Given the description of an element on the screen output the (x, y) to click on. 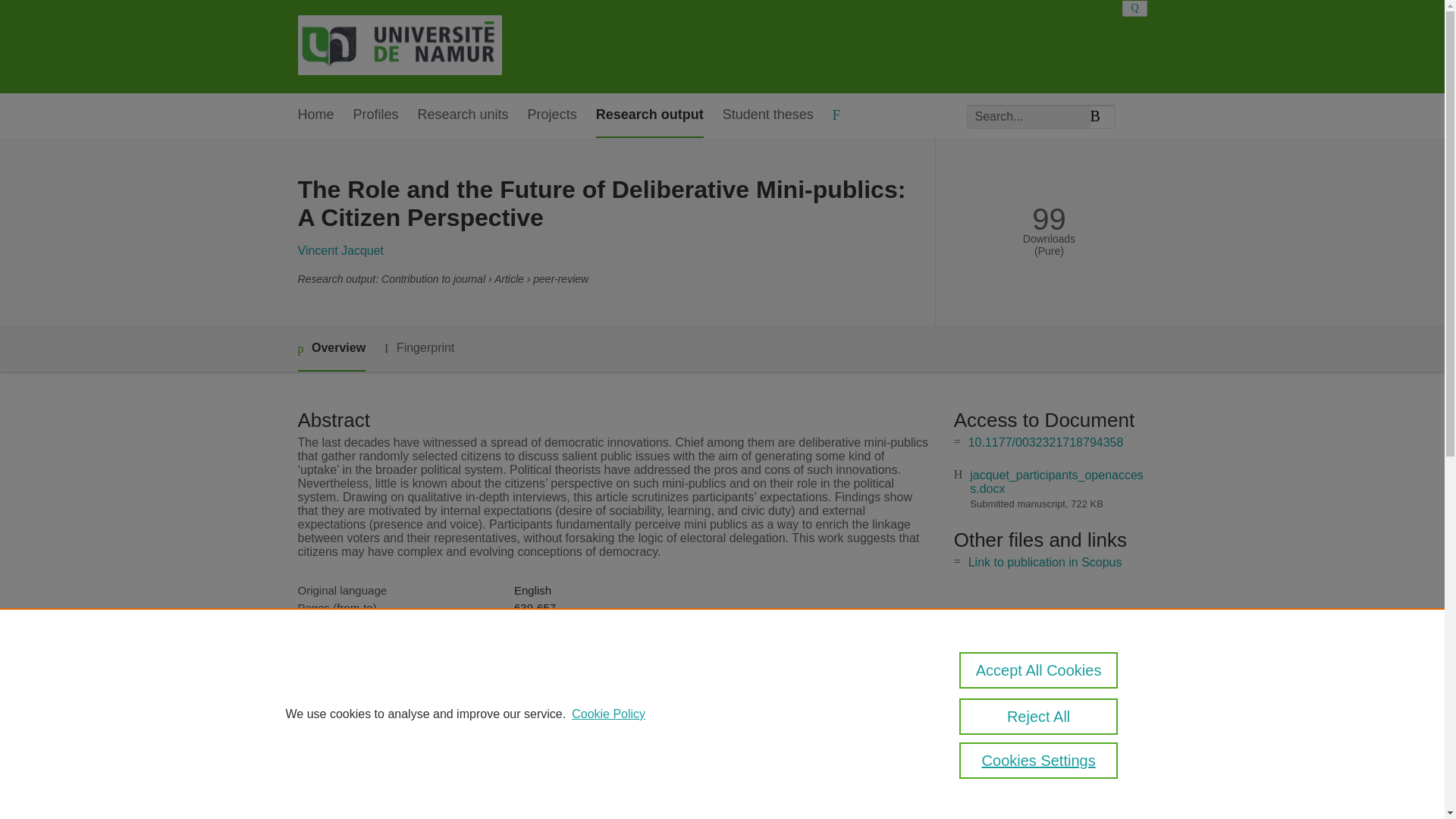
Overview (331, 348)
the Research Portal - University of Namur Home (398, 46)
Research units (462, 115)
Vincent Jacquet (340, 250)
Profiles (375, 115)
Research output (649, 115)
Student theses (767, 115)
Link to publication in Scopus (1045, 562)
Projects (551, 115)
Fingerprint (419, 348)
